Given the description of an element on the screen output the (x, y) to click on. 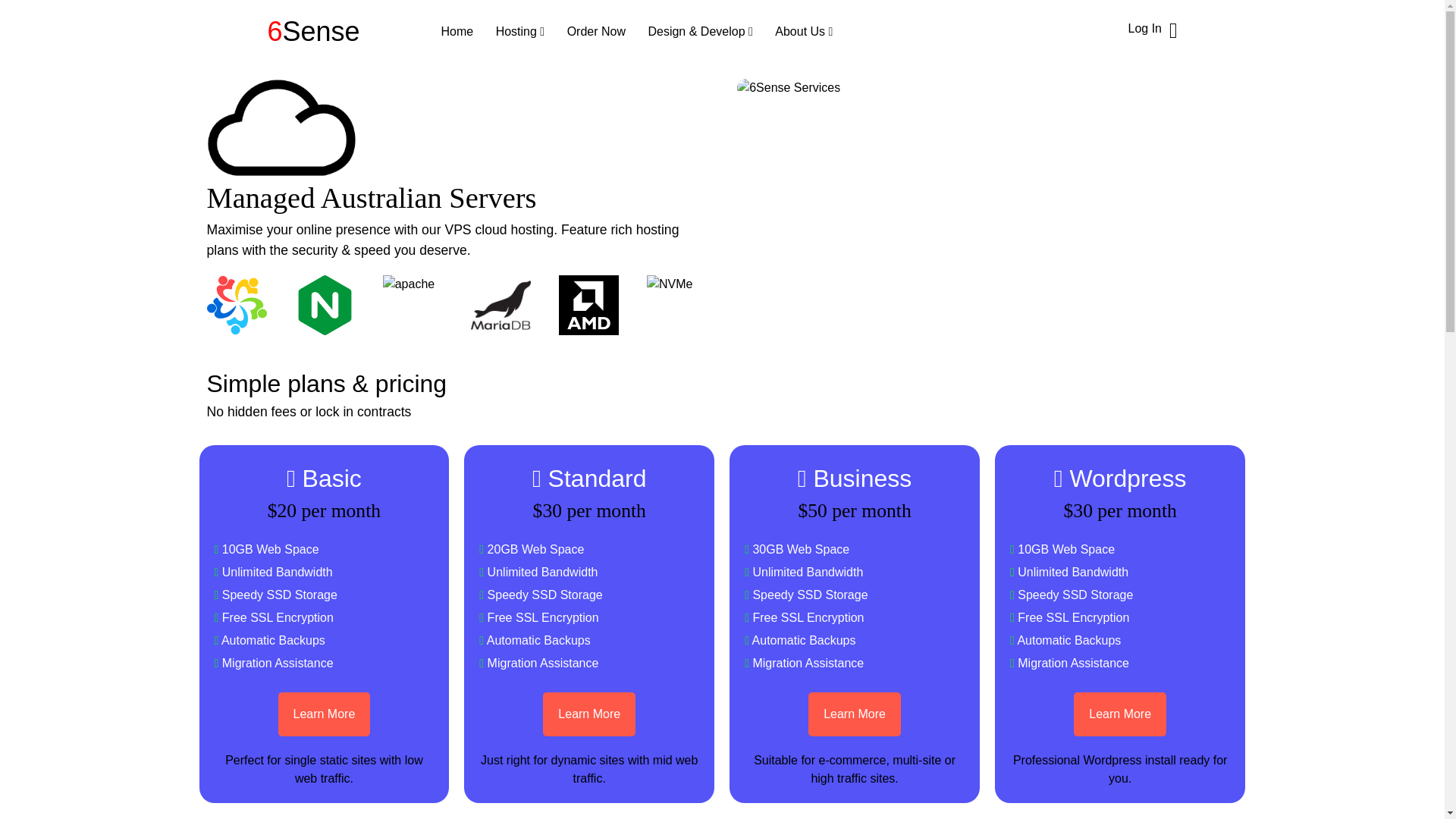
Home (457, 31)
6Sense (312, 30)
Learn More (854, 714)
Hosting (520, 31)
Learn More (1120, 714)
Order Now (596, 31)
Learn More (323, 714)
About Us (803, 31)
Learn More (588, 714)
